Given the description of an element on the screen output the (x, y) to click on. 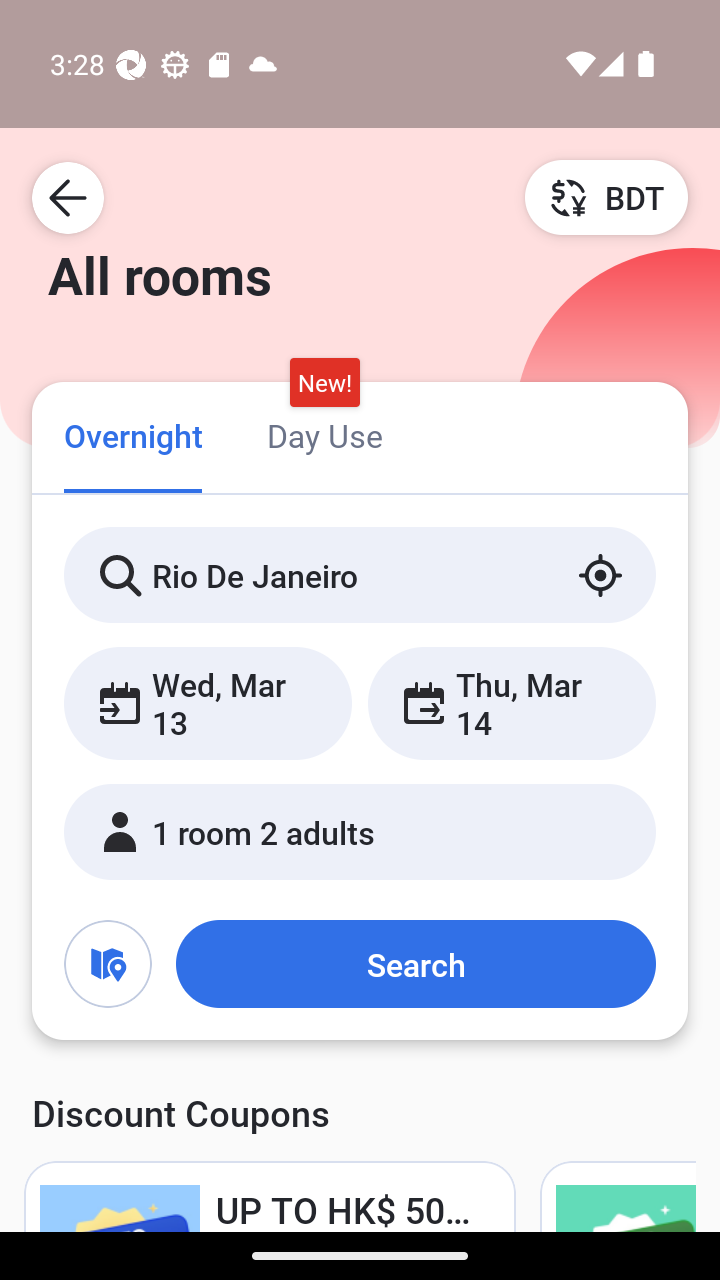
BDT (606, 197)
New! (324, 383)
Day Use (324, 434)
Rio De Janeiro (359, 575)
Wed, Mar 13 (208, 703)
Thu, Mar 14 (511, 703)
1 room 2 adults (359, 831)
Search (415, 964)
